Given the description of an element on the screen output the (x, y) to click on. 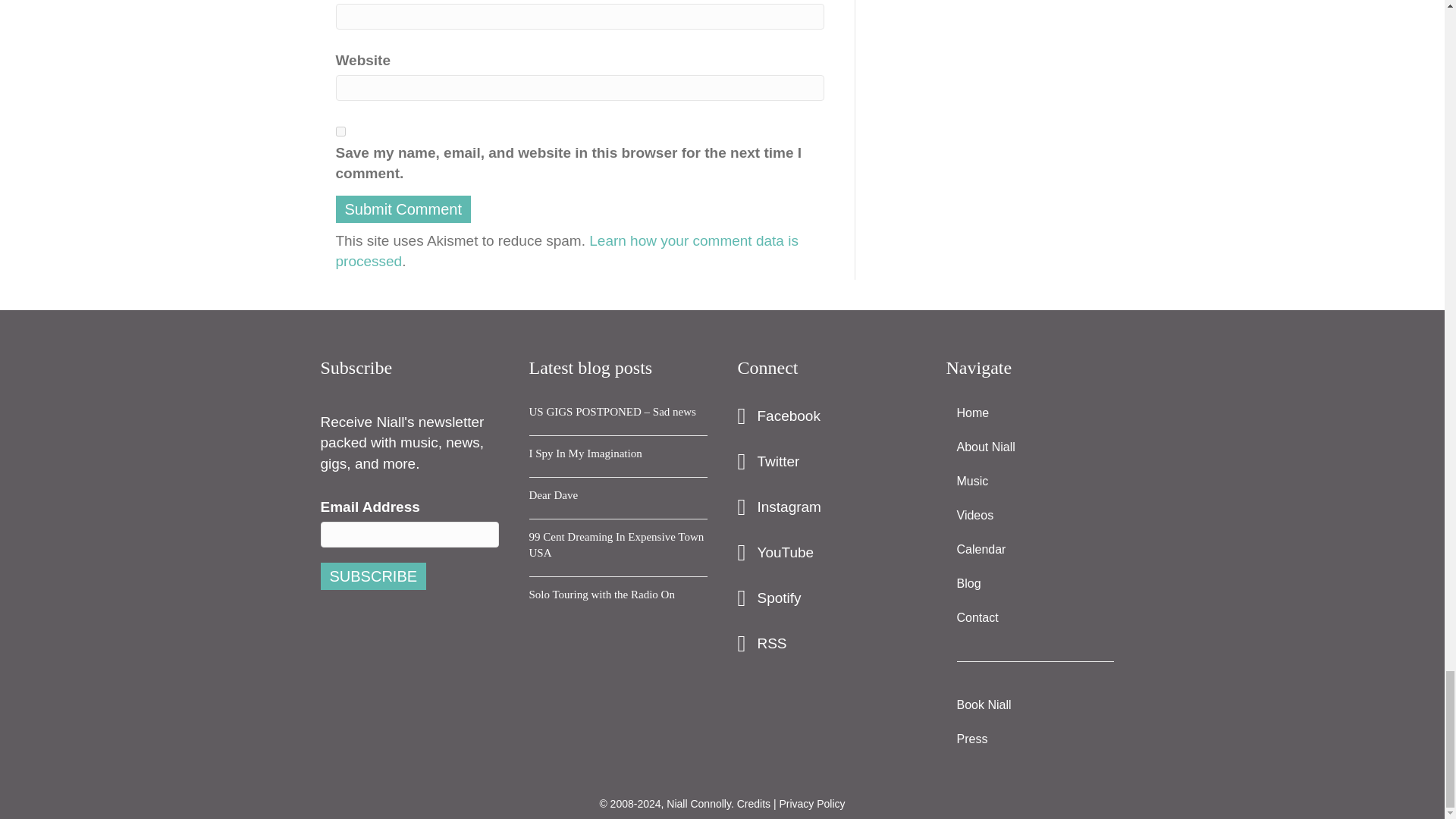
Dear Dave (553, 494)
Submit Comment (402, 208)
Learn how your comment data is processed (565, 251)
SUBSCRIBE (373, 575)
Solo Touring with the Radio On (602, 593)
Submit Comment (402, 208)
SUBSCRIBE (373, 575)
Privacy Policy (811, 802)
I Spy In My Imagination (585, 452)
99 Cent Dreaming In Expensive Town USA (616, 543)
yes (339, 131)
